Given the description of an element on the screen output the (x, y) to click on. 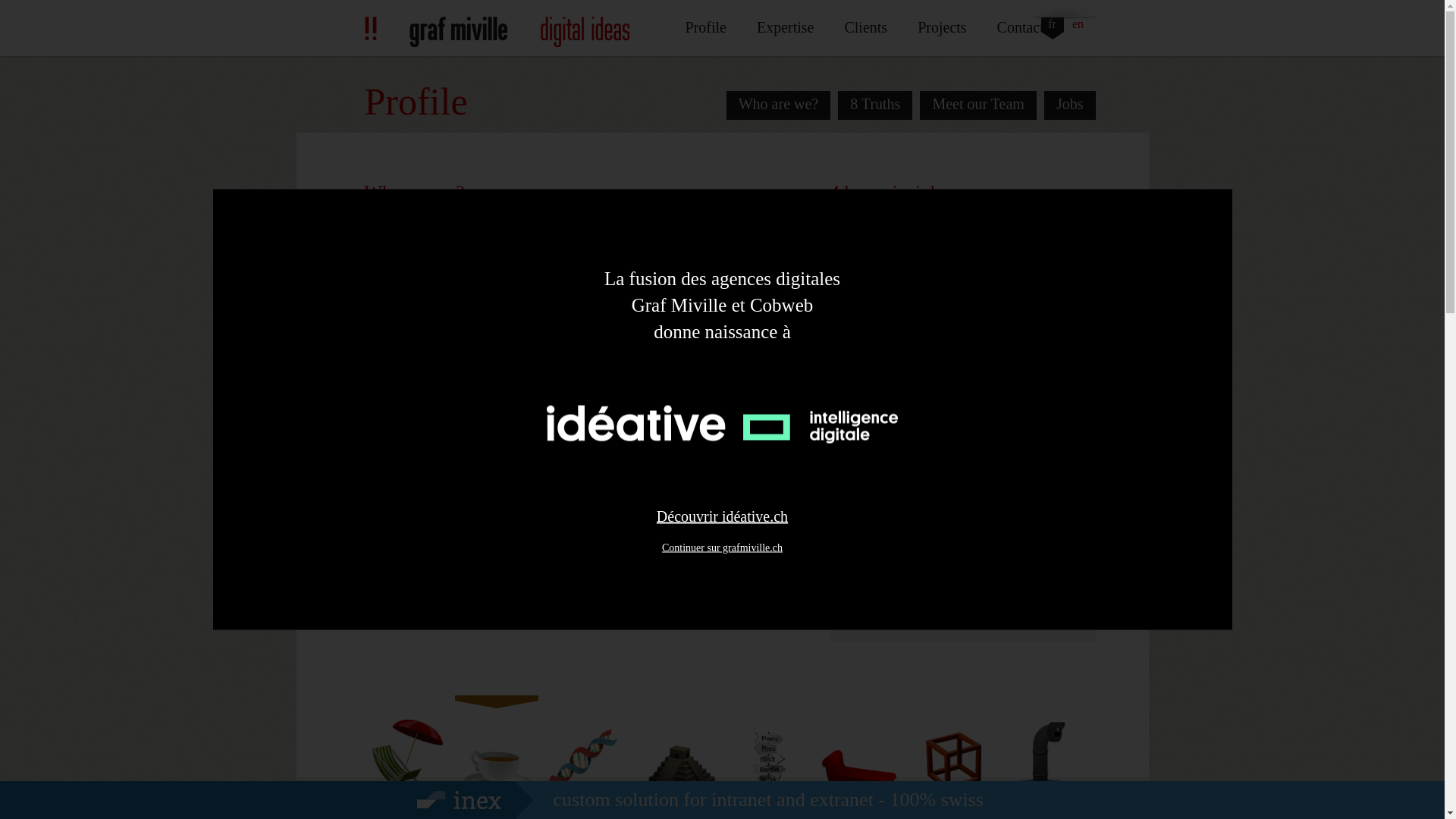
Meet our Team (978, 104)
fr (1051, 27)
Profile (705, 27)
en (1077, 27)
Expertise (785, 27)
Contact (1020, 27)
Jobs (1069, 104)
8 Truths (875, 104)
Projects (941, 27)
Who are we? (778, 104)
